Given the description of an element on the screen output the (x, y) to click on. 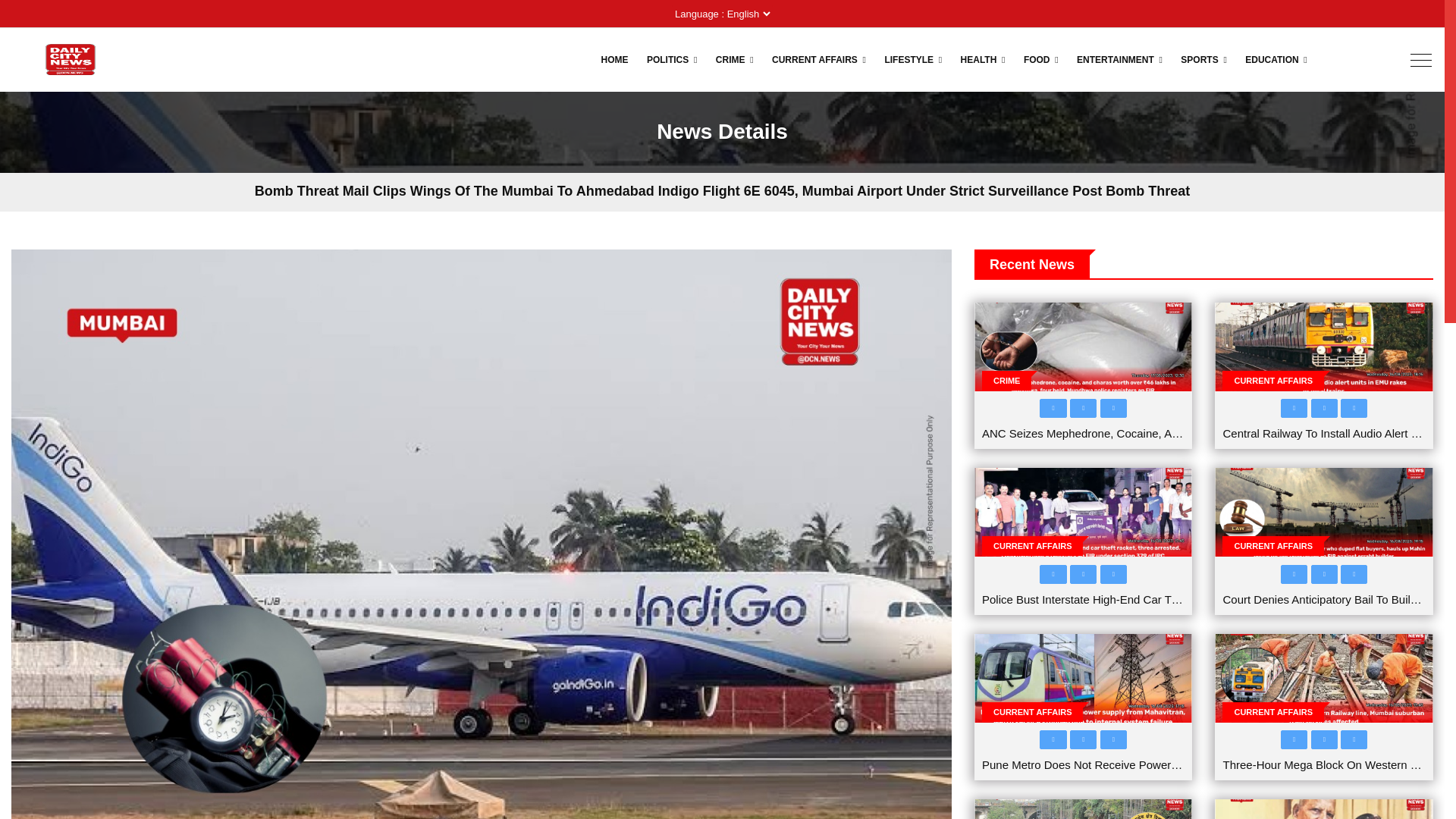
HEALTH   (983, 59)
LIFESTYLE   (912, 59)
CURRENT AFFAIRS   (818, 59)
POLITICS   (671, 59)
